Given the description of an element on the screen output the (x, y) to click on. 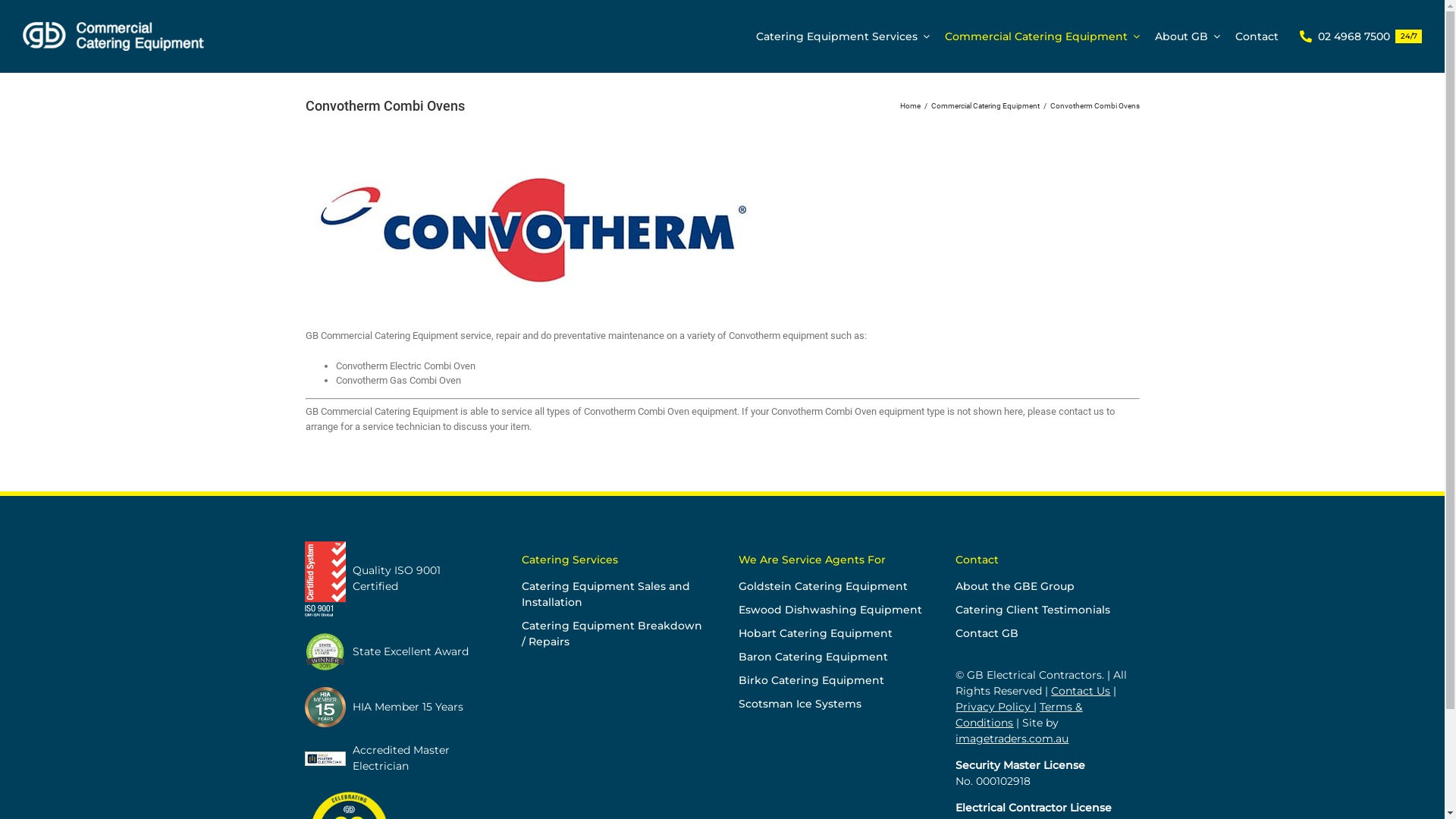
Contact GB Element type: text (1047, 633)
Commercial Catering Equipment Element type: text (985, 105)
Gold-Master-Electrcian-Newcastle Element type: hover (324, 758)
imagetraders.com.au Element type: text (1011, 738)
Contact Element type: text (1256, 36)
Catering Equipment Sales and Installation Element type: text (613, 594)
Eswood Dishwashing Equipment Element type: text (830, 610)
Privacy Policy Element type: text (992, 706)
Hobart Catering Equipment Element type: text (830, 633)
Goldstein Catering Equipment Element type: text (830, 586)
Residential-State-winner (1) Element type: hover (324, 651)
About GB Element type: text (1187, 36)
Scotsman Ice Systems Element type: text (830, 704)
Contact Us Element type: text (1080, 690)
Baron Catering Equipment Element type: text (830, 657)
Commercial Catering Equipment Element type: text (1041, 36)
HIA_member_15years-opt Element type: hover (324, 707)
Catering Equipment Services Element type: text (842, 36)
02 4968 7500
24/7 Element type: text (1357, 36)
Catering Client Testimonials Element type: text (1047, 610)
Home Element type: text (909, 105)
GBE-CCE-logo-1 Element type: hover (117, 36)
Birko Catering Equipment Element type: text (830, 680)
Catering Equipment Breakdown / Repairs Element type: text (613, 633)
About the GBE Group Element type: text (1047, 586)
Terms & Conditions Element type: text (1018, 714)
